Given the description of an element on the screen output the (x, y) to click on. 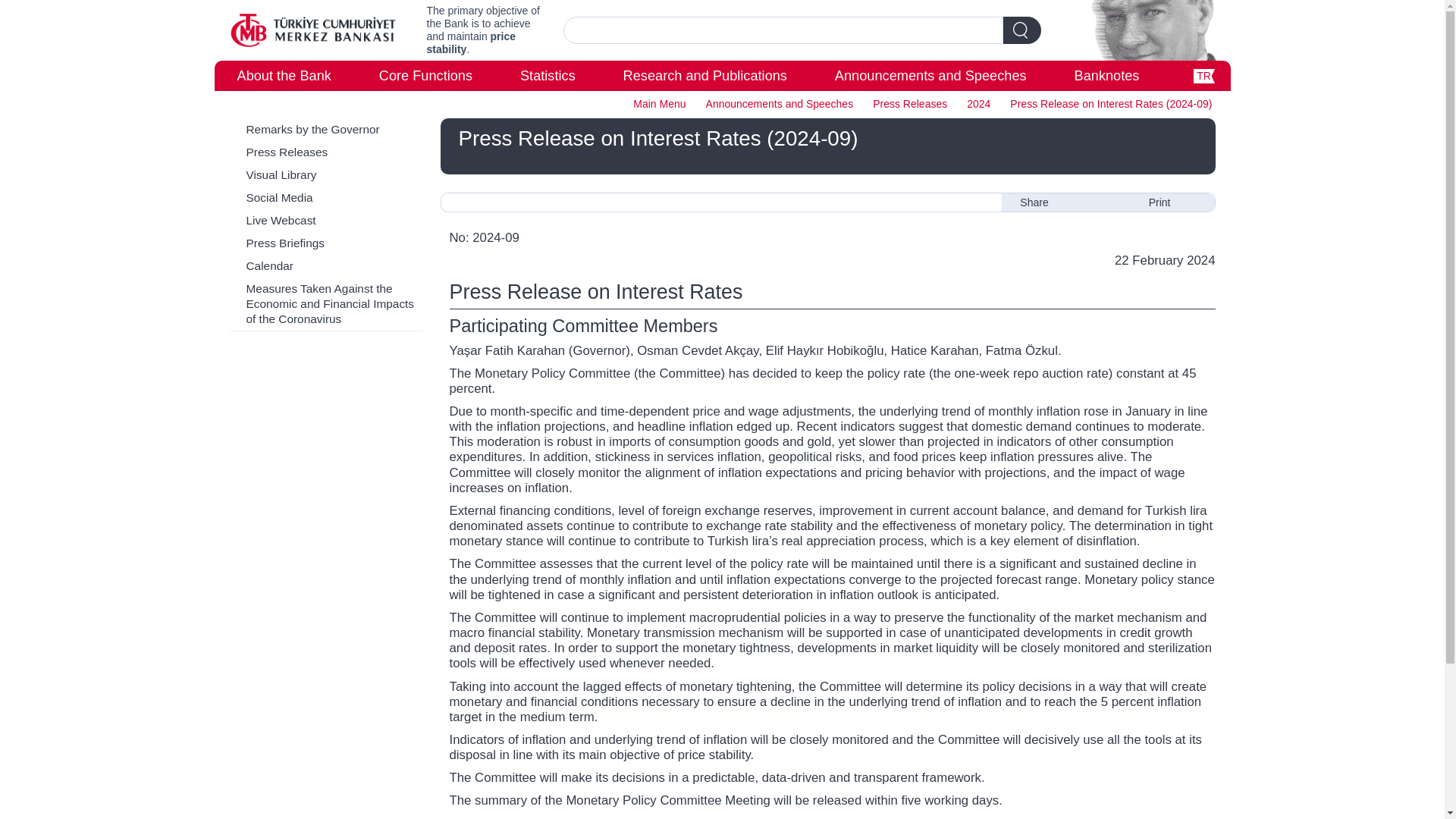
Main Page (312, 29)
About the Bank (282, 75)
Research and Publications (704, 75)
Statistics (547, 75)
linkedin (1115, 202)
twitter (1064, 202)
Arama (782, 30)
facebook (1090, 202)
Core Functions (425, 75)
Banknotes (1107, 75)
Announcements and Speeches (930, 75)
